Given the description of an element on the screen output the (x, y) to click on. 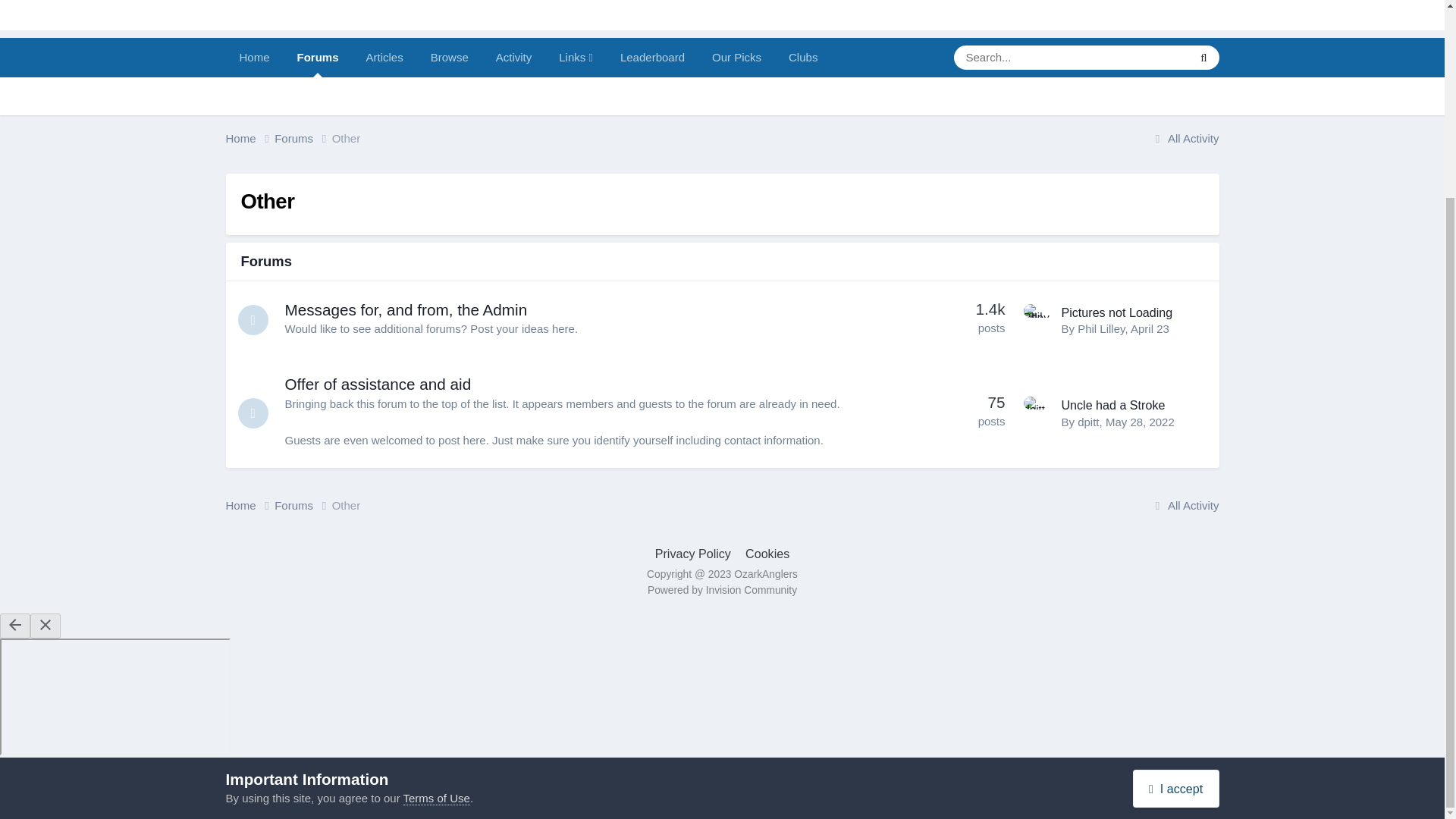
Go to last post (1150, 328)
Leaderboard (652, 56)
Browse (448, 56)
Go to dpitt's profile (1038, 411)
Links (575, 56)
Advertisement (721, 15)
Activity (513, 56)
Forums (317, 56)
Uncle had a Stroke (1113, 404)
Home (250, 139)
